Given the description of an element on the screen output the (x, y) to click on. 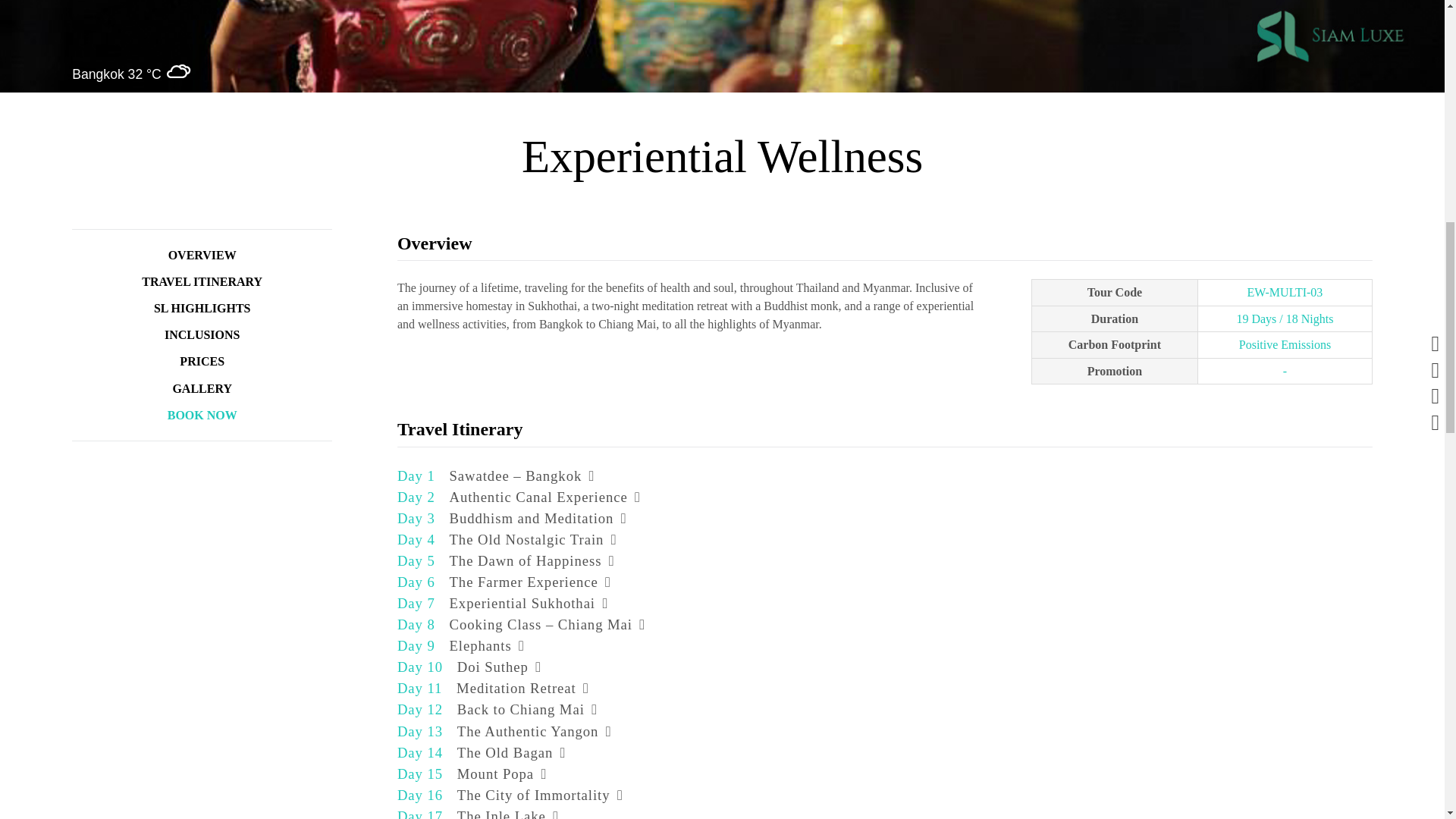
OVERVIEW (201, 254)
BOOK NOW (202, 414)
INCLUSIONS (202, 334)
GALLERY (201, 388)
PRICES (201, 360)
TRAVEL ITINERARY (201, 281)
SL HIGHLIGHTS (202, 308)
